Given the description of an element on the screen output the (x, y) to click on. 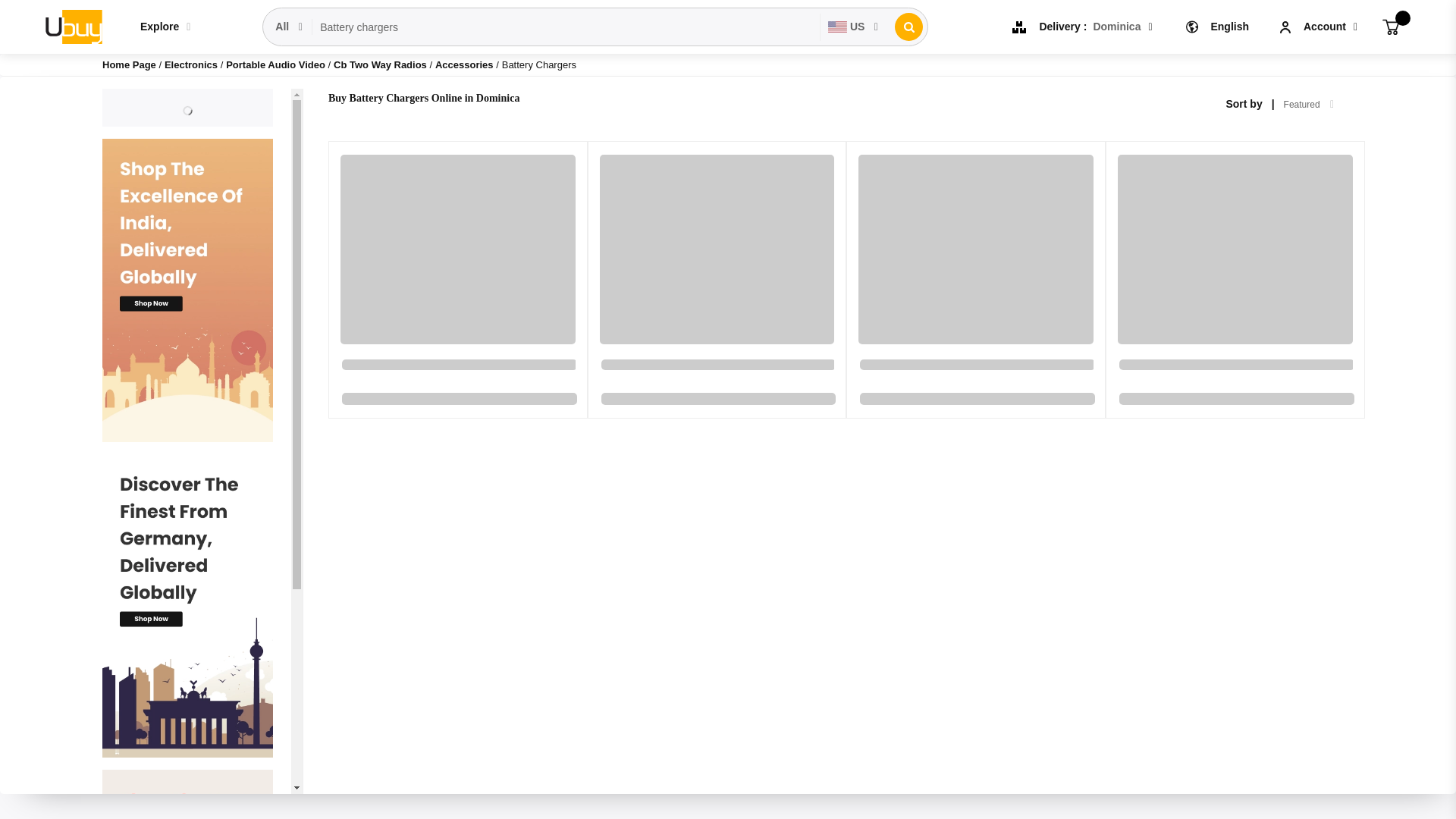
Cart (1390, 26)
Home Page (128, 64)
US (853, 26)
Home Page (128, 64)
Battery chargers (566, 26)
Battery chargers (566, 26)
Electronics (192, 64)
Ubuy (73, 26)
All (289, 26)
